Given the description of an element on the screen output the (x, y) to click on. 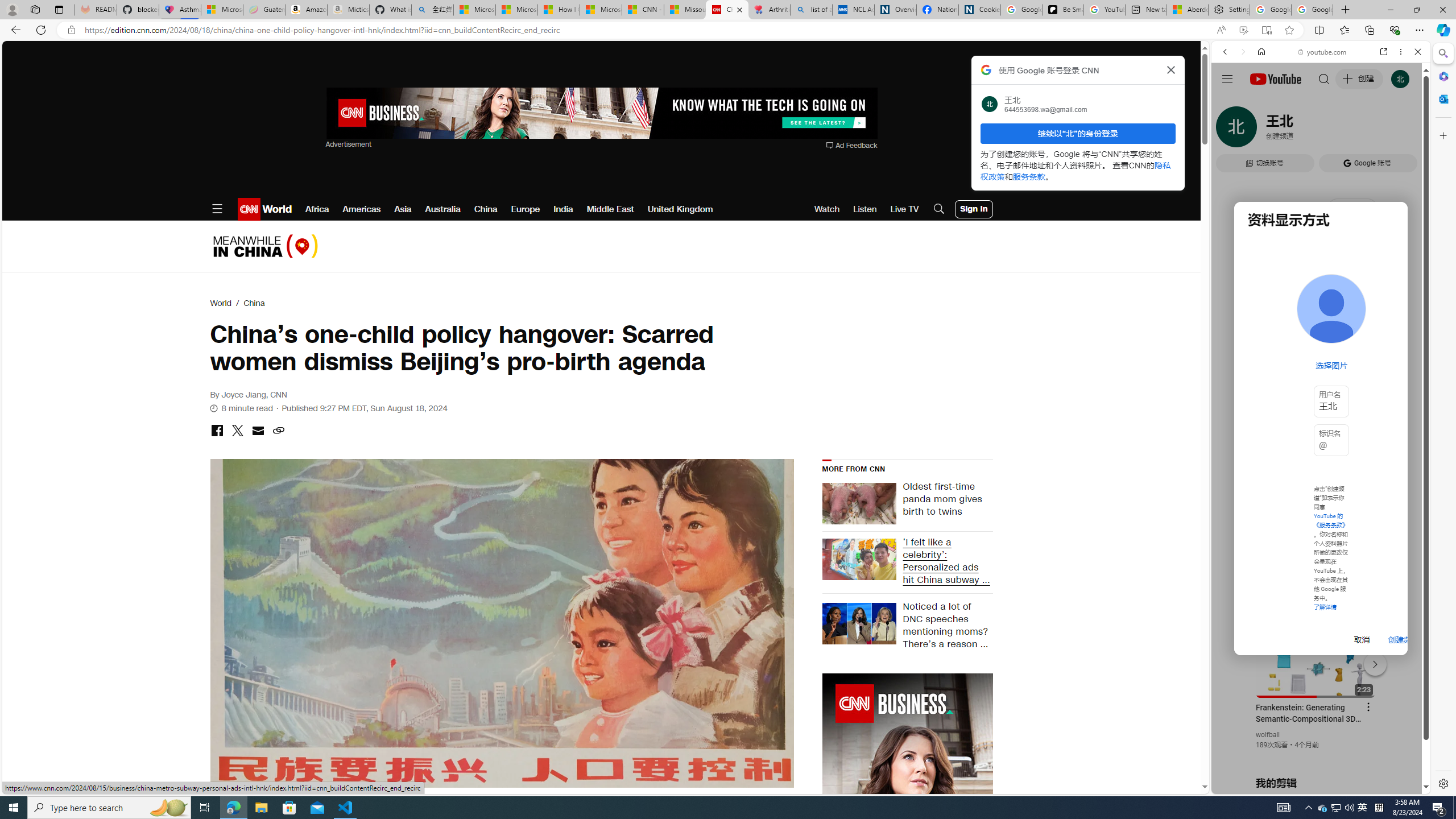
Forward (1242, 51)
Americas (361, 209)
Class: icon-social-twitter (237, 430)
Trailer #2 [HD] (1320, 337)
share with x (237, 430)
